Given the description of an element on the screen output the (x, y) to click on. 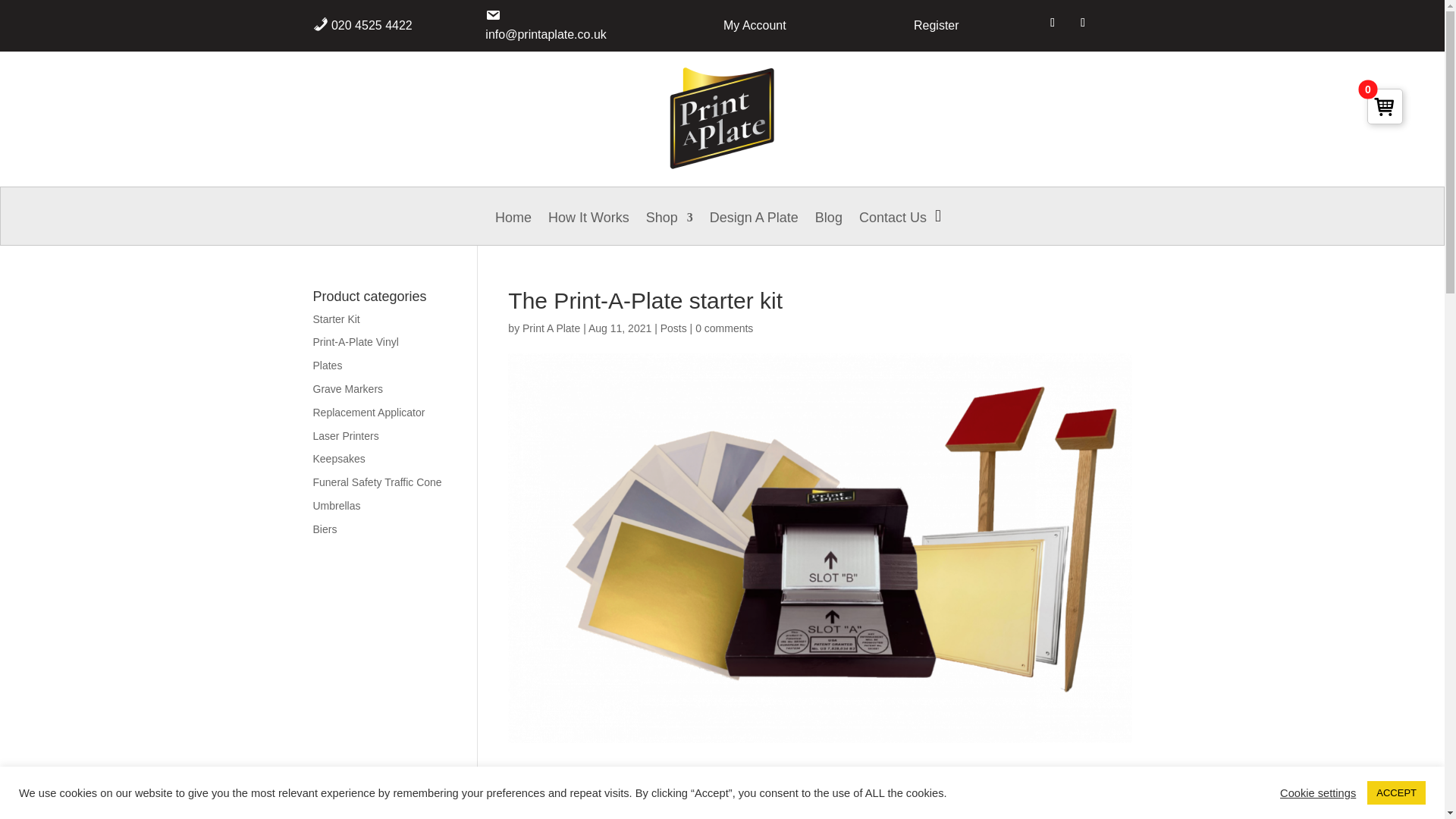
My Account (754, 24)
Shop (669, 228)
Posts by Print A Plate (550, 328)
Follow on Twitter (1052, 22)
Design A Plate (753, 228)
Home (513, 228)
020 4525 4422 (371, 24)
How It Works (588, 228)
Register (936, 24)
Contact Us (892, 228)
